Given the description of an element on the screen output the (x, y) to click on. 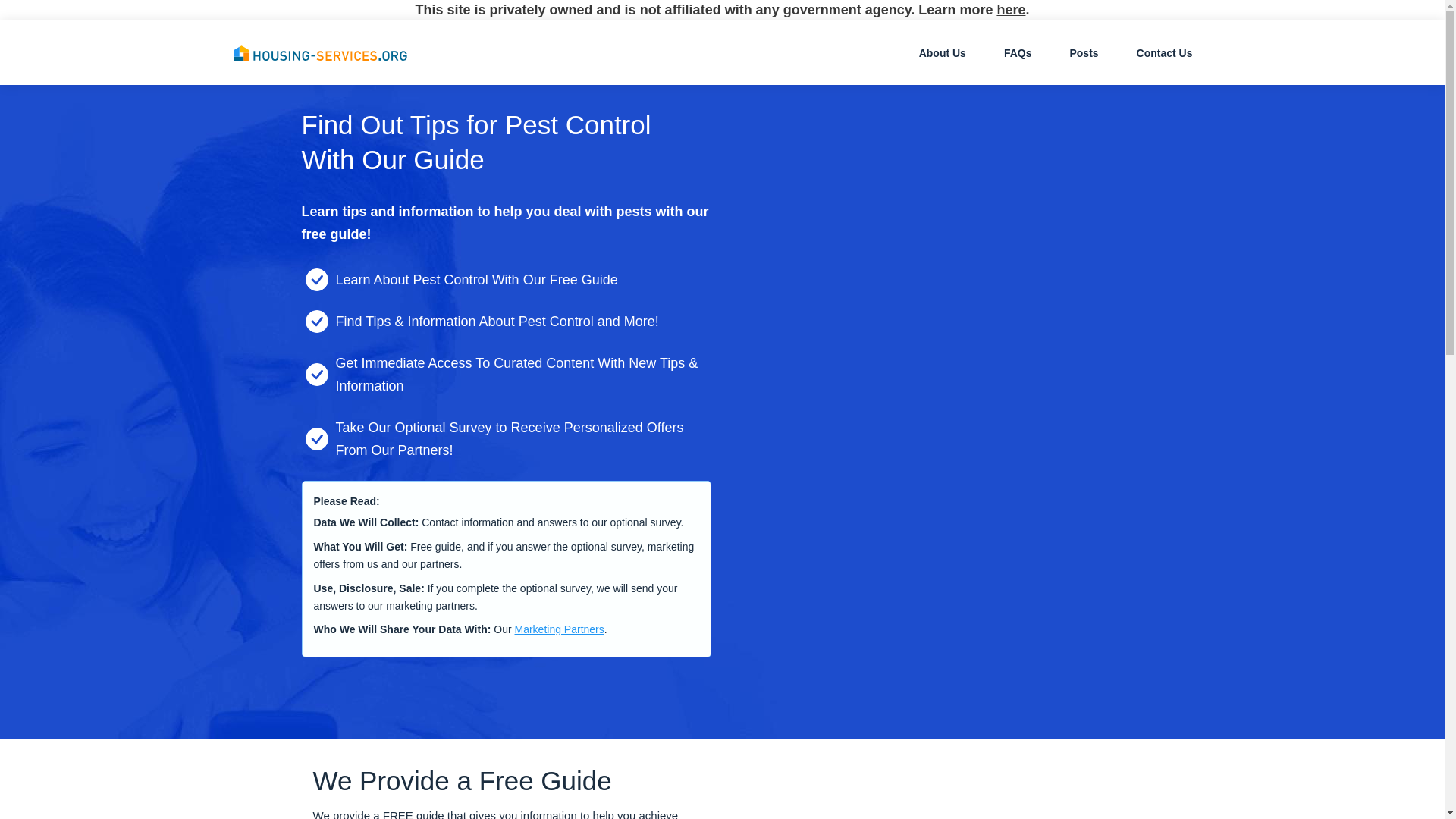
here (1010, 9)
Marketing Partners (558, 629)
About Us (942, 52)
FAQs (1017, 52)
Contact Us (1164, 52)
Posts (1083, 52)
